Given the description of an element on the screen output the (x, y) to click on. 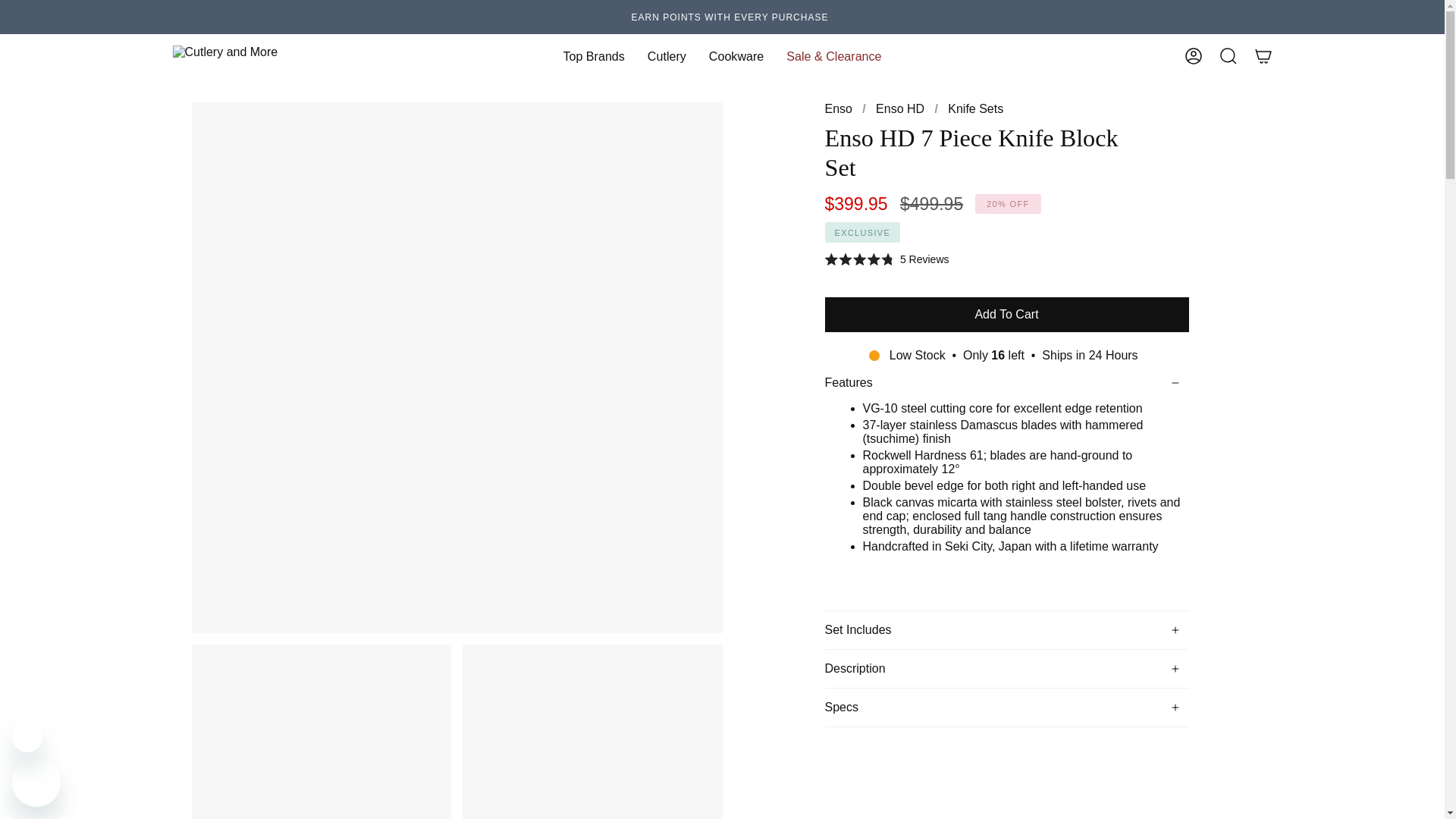
Cart (1261, 56)
Cutlery (666, 56)
EARN POINTS WITH EVERY PURCHASE (729, 17)
My Account (1191, 56)
Top Brands (592, 56)
Search (1226, 56)
